Given the description of an element on the screen output the (x, y) to click on. 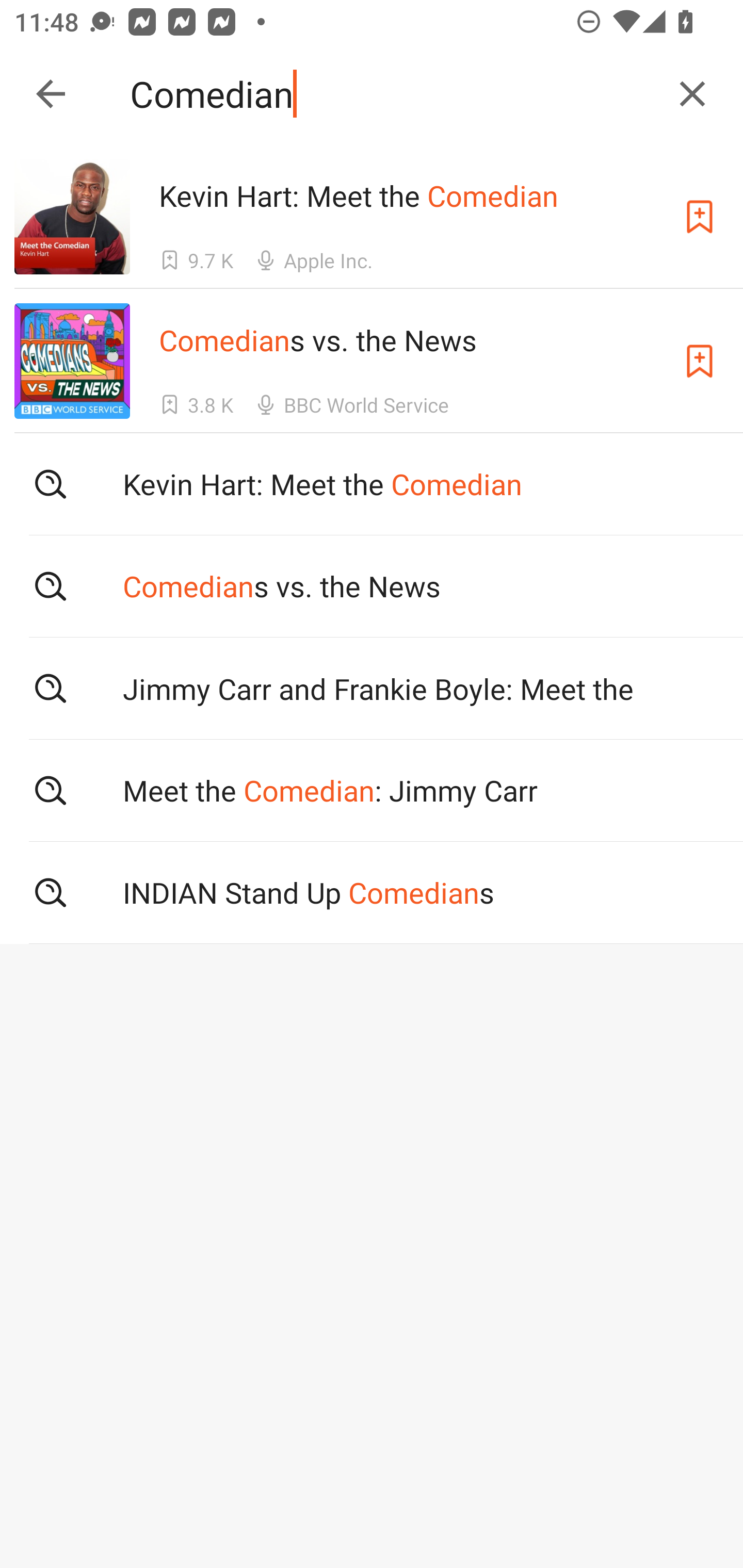
Collapse (50, 93)
Clear query (692, 93)
Comedian (393, 94)
Subscribe (699, 216)
Subscribe (699, 360)
 Kevin Hart: Meet the Comedian (371, 483)
 Comedians vs. the News (371, 585)
 Jimmy Carr and Frankie Boyle: Meet the Comedians (371, 688)
 Meet the Comedian: Jimmy Carr (371, 791)
 INDIAN Stand Up Comedians (371, 892)
